Given the description of an element on the screen output the (x, y) to click on. 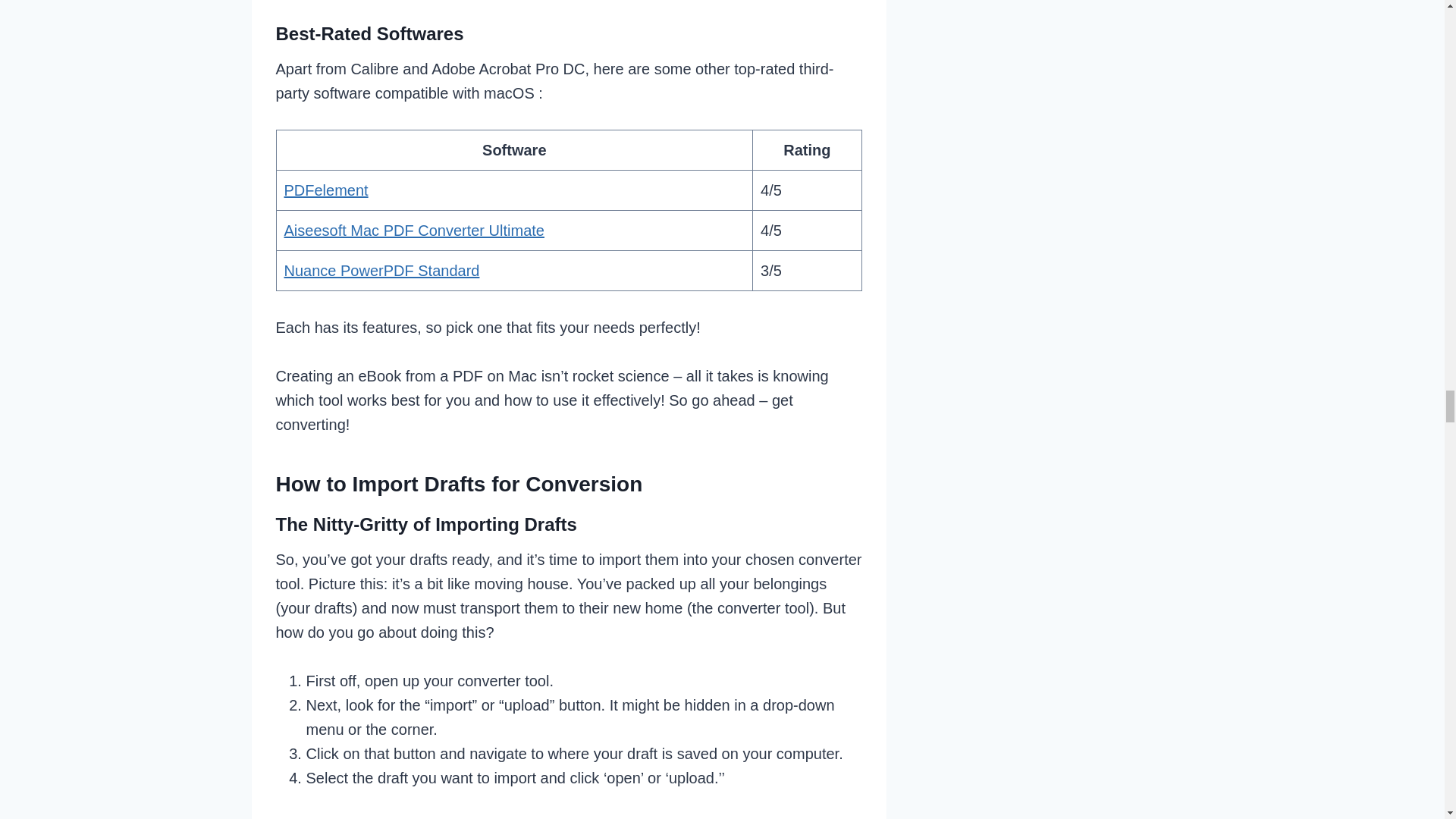
PDFelement (325, 190)
Aiseesoft Mac PDF Converter Ultimate (413, 230)
Nuance PowerPDF Standard (381, 270)
